Given the description of an element on the screen output the (x, y) to click on. 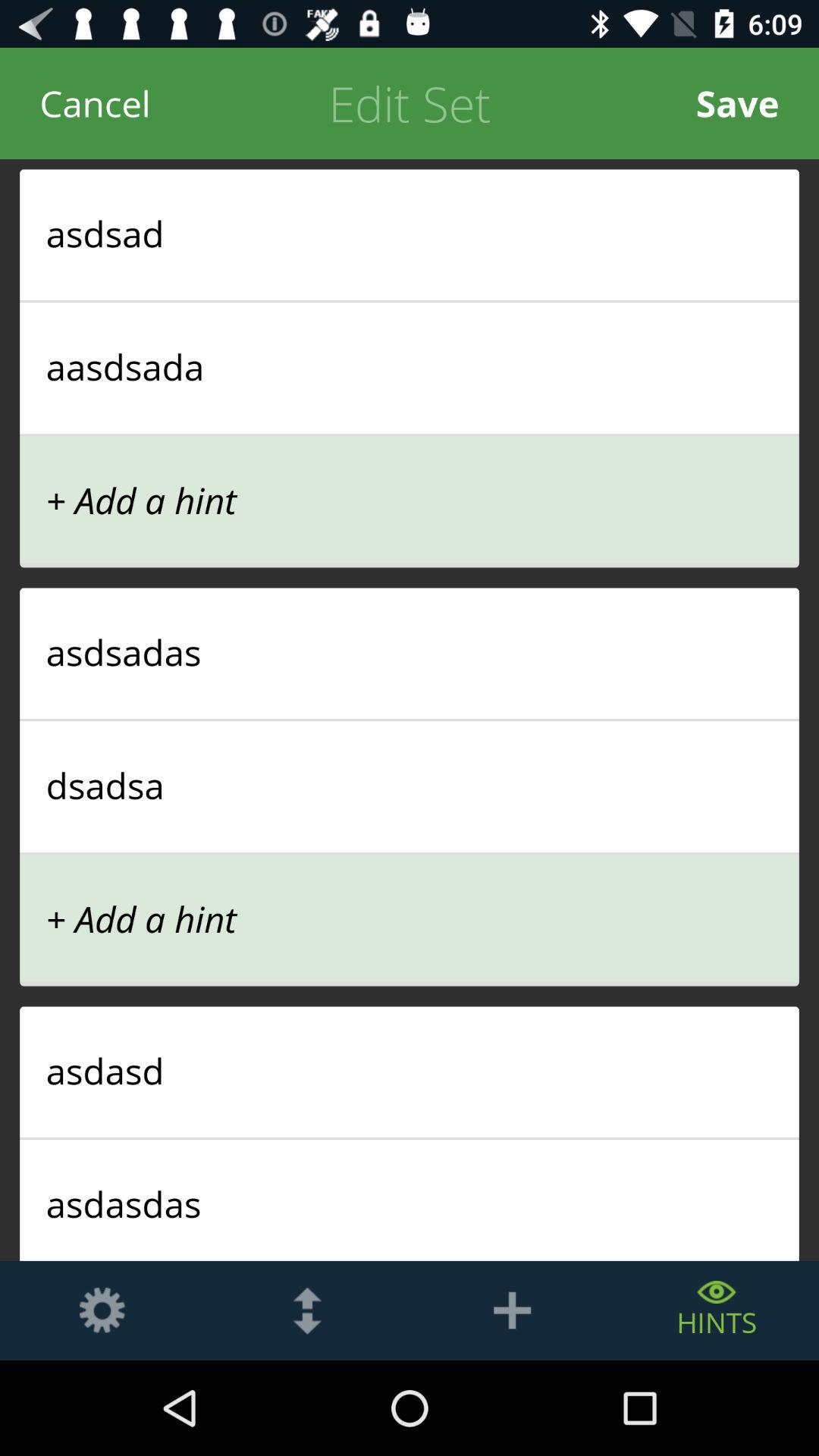
open the icon at the top right corner (737, 103)
